Given the description of an element on the screen output the (x, y) to click on. 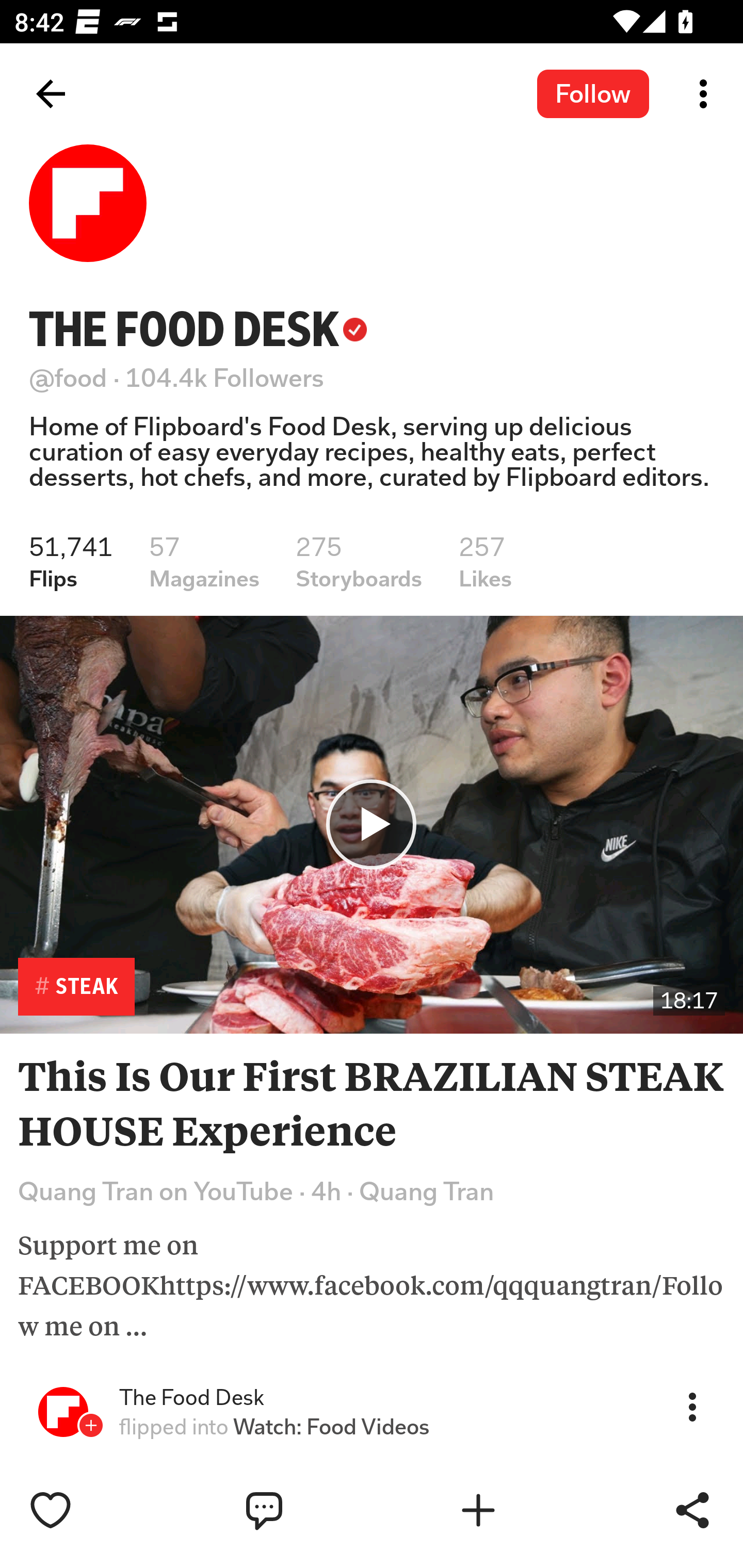
Back (50, 93)
More options (706, 93)
Follow (593, 92)
THE FOOD DESK (197, 328)
@food (67, 377)
104.4k Followers (224, 377)
51,741 Flips (70, 562)
57 Magazines (203, 562)
275 Storyboards (358, 562)
257 Likes (485, 562)
# STEAK (75, 987)
More (692, 1406)
The Food Desk (191, 1397)
flipped into Watch: Food Videos (273, 1426)
Like (93, 1509)
Write a comment… (307, 1509)
Flip into Magazine (521, 1509)
Share (692, 1509)
